Given the description of an element on the screen output the (x, y) to click on. 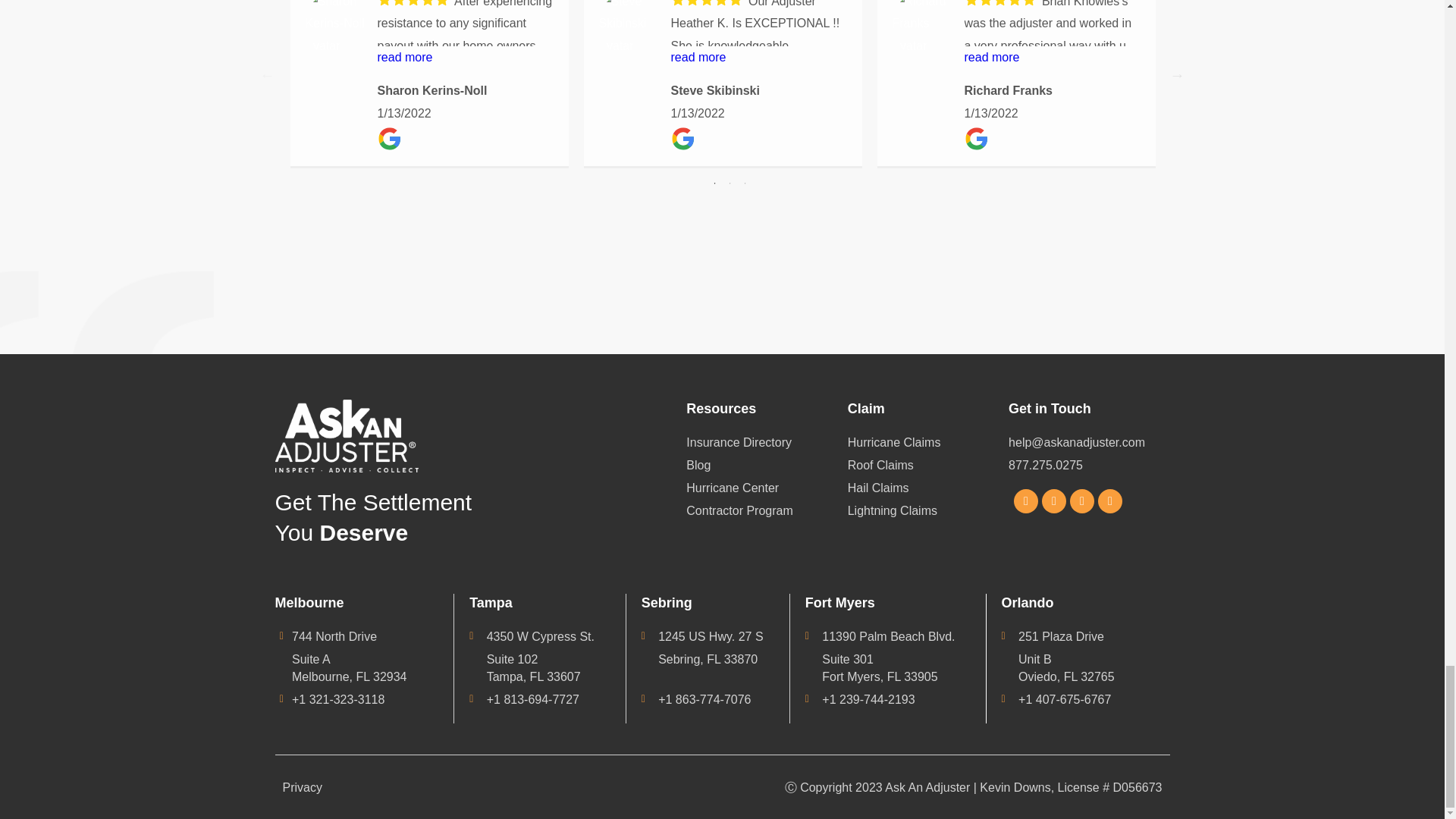
Previous (267, 74)
